Given the description of an element on the screen output the (x, y) to click on. 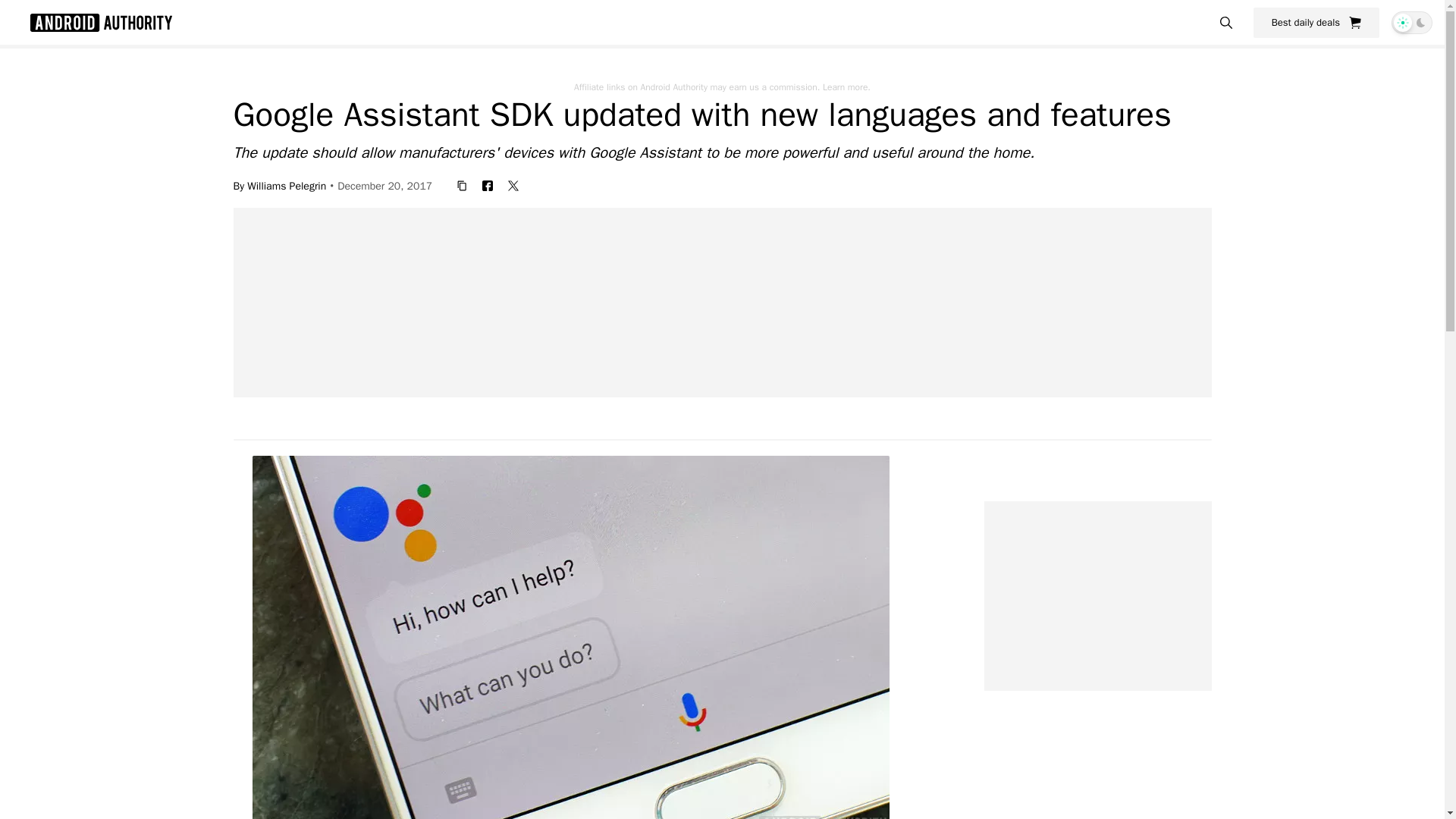
Learn more. (846, 86)
Best daily deals (1315, 22)
facebook (487, 185)
Williams Pelegrin (286, 185)
twitter (512, 185)
